Given the description of an element on the screen output the (x, y) to click on. 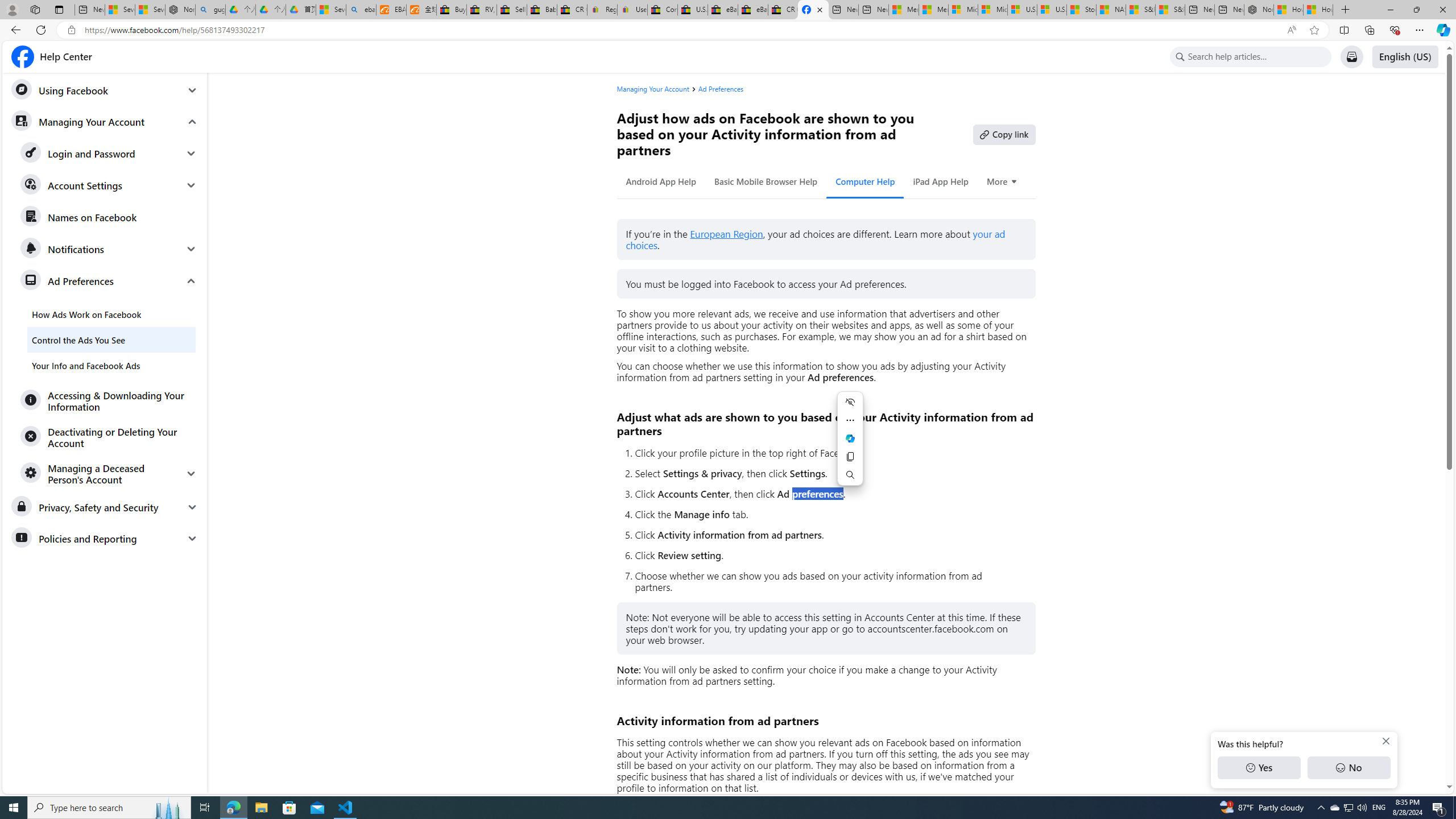
Names on Facebook (109, 217)
Copy (850, 456)
Accessing & Downloading Your Information (109, 400)
Account Settings Expand (109, 185)
Managing Your Account (104, 121)
Control the Ads You See (111, 339)
